Given the description of an element on the screen output the (x, y) to click on. 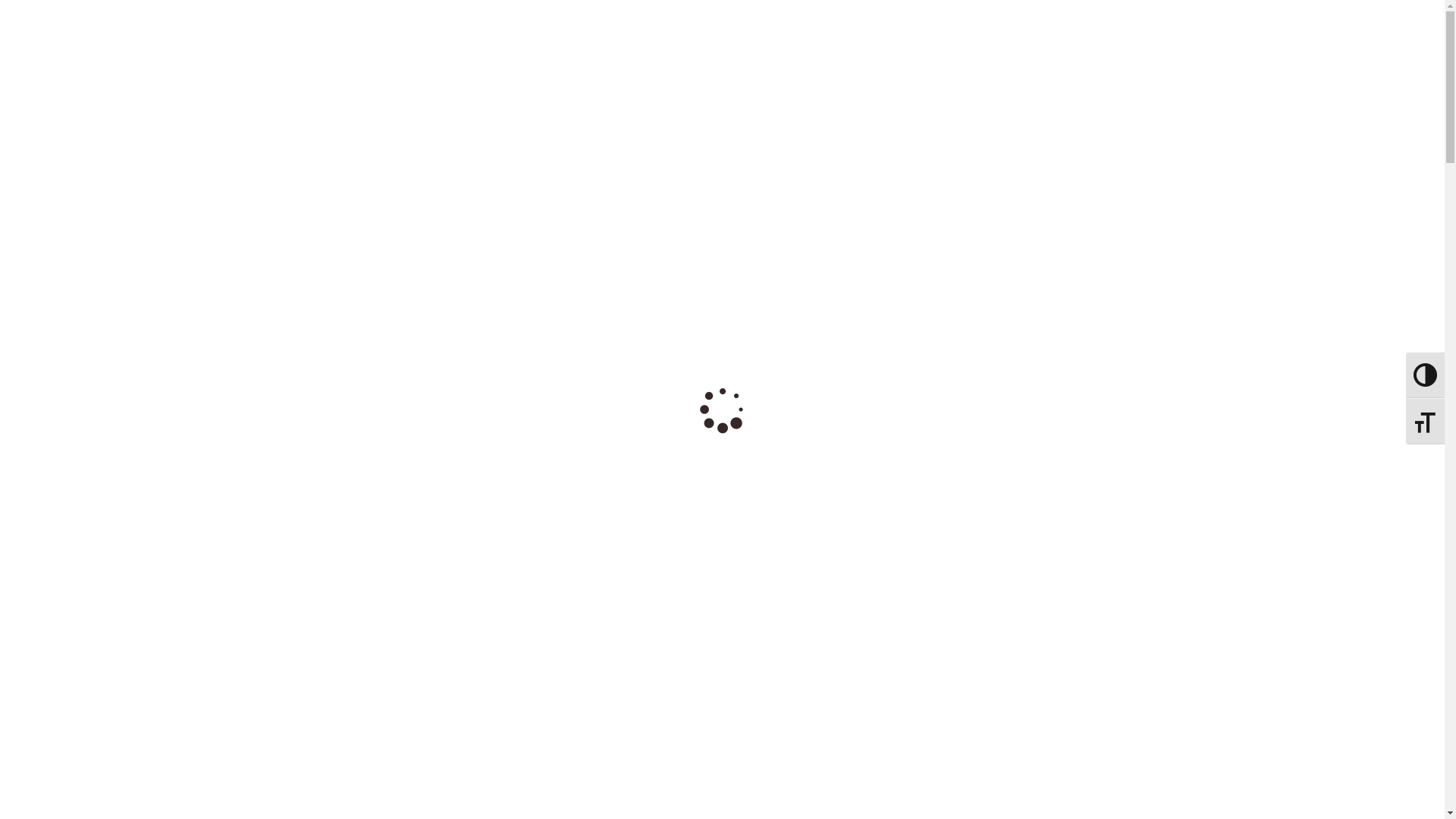
Toggle High Contrast Element type: text (722, 7)
Toggle Font size Element type: text (1424, 421)
Toggle Font size Element type: text (707, 21)
Toggle High Contrast Element type: text (1424, 374)
